Given the description of an element on the screen output the (x, y) to click on. 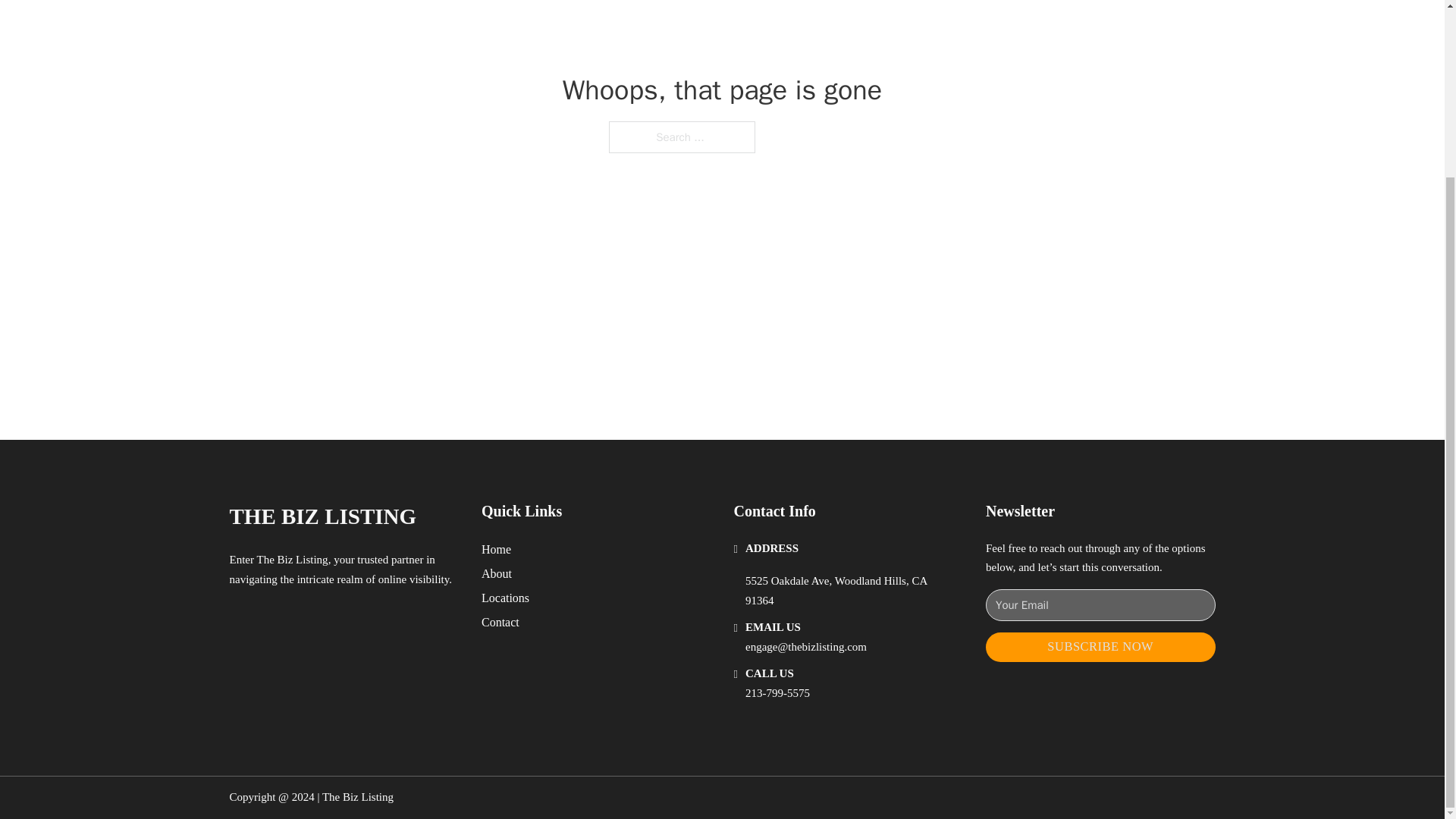
SUBSCRIBE NOW (1100, 646)
About (496, 573)
THE BIZ LISTING (322, 516)
213-799-5575 (777, 693)
Home (496, 548)
Locations (505, 598)
Contact (500, 621)
